Given the description of an element on the screen output the (x, y) to click on. 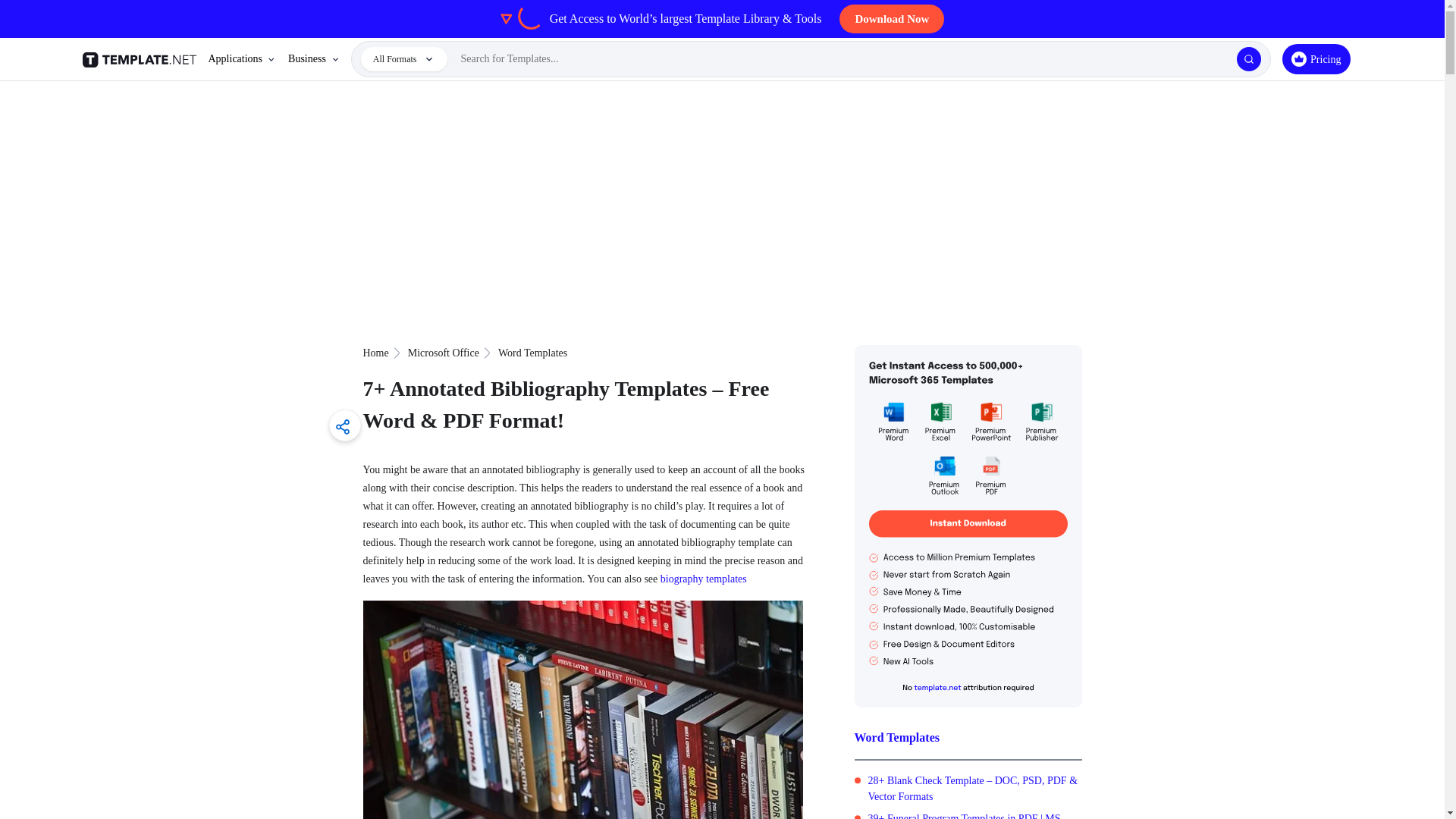
Download Now (891, 18)
Template.net (141, 59)
Pricing (1315, 59)
